Given the description of an element on the screen output the (x, y) to click on. 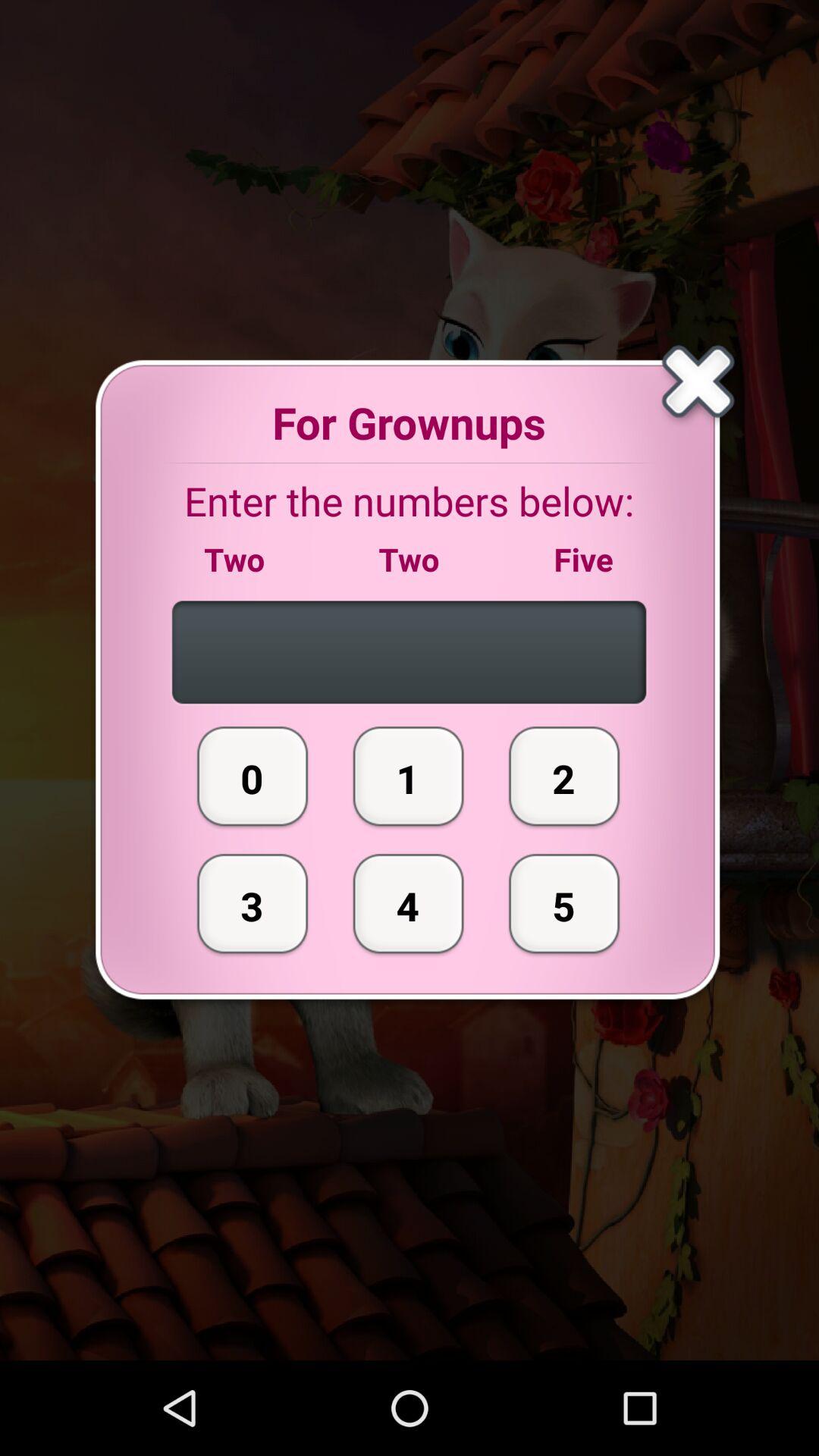
open the button next to the 2 item (408, 776)
